Given the description of an element on the screen output the (x, y) to click on. 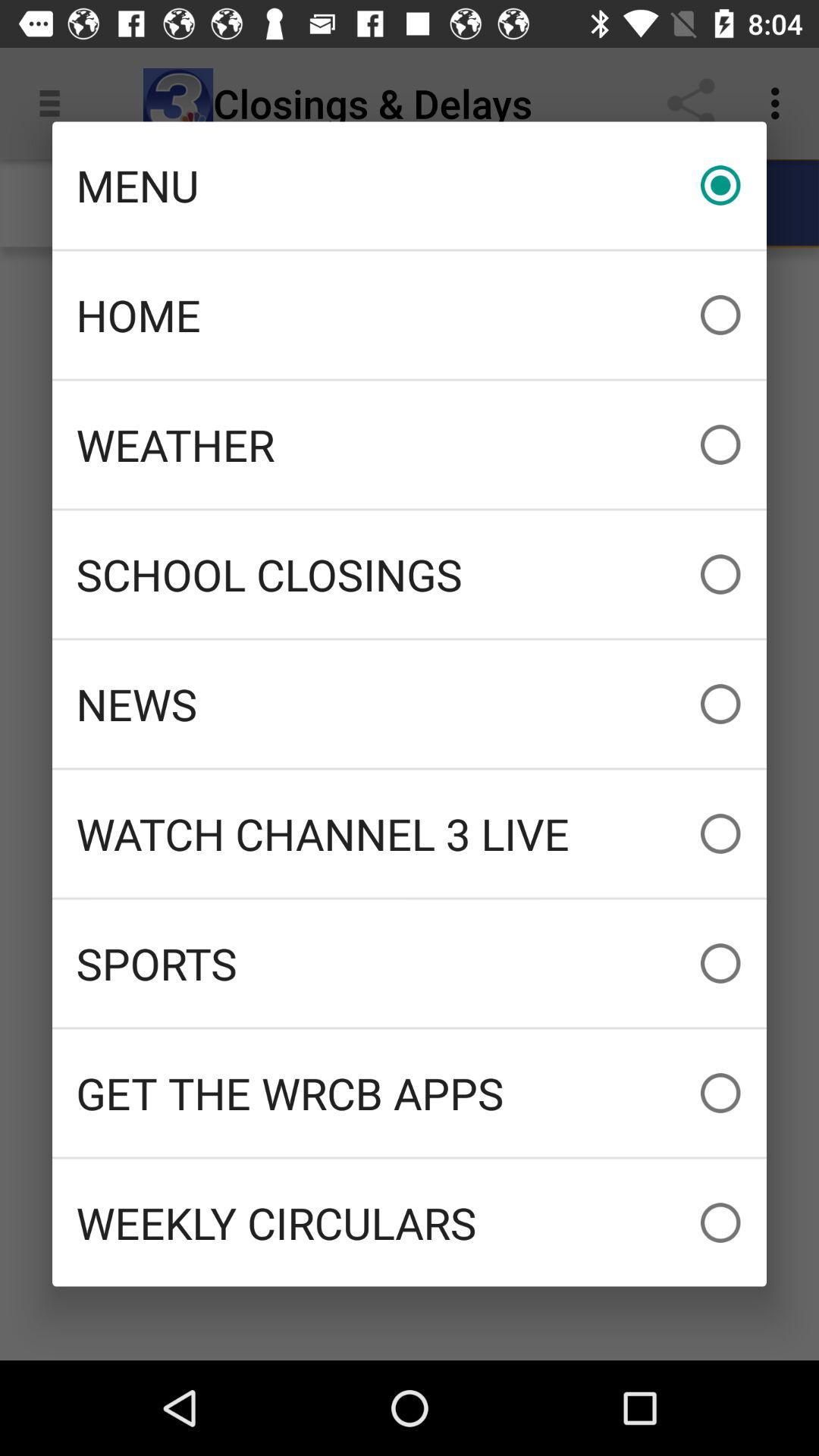
turn on the icon below home icon (409, 444)
